Given the description of an element on the screen output the (x, y) to click on. 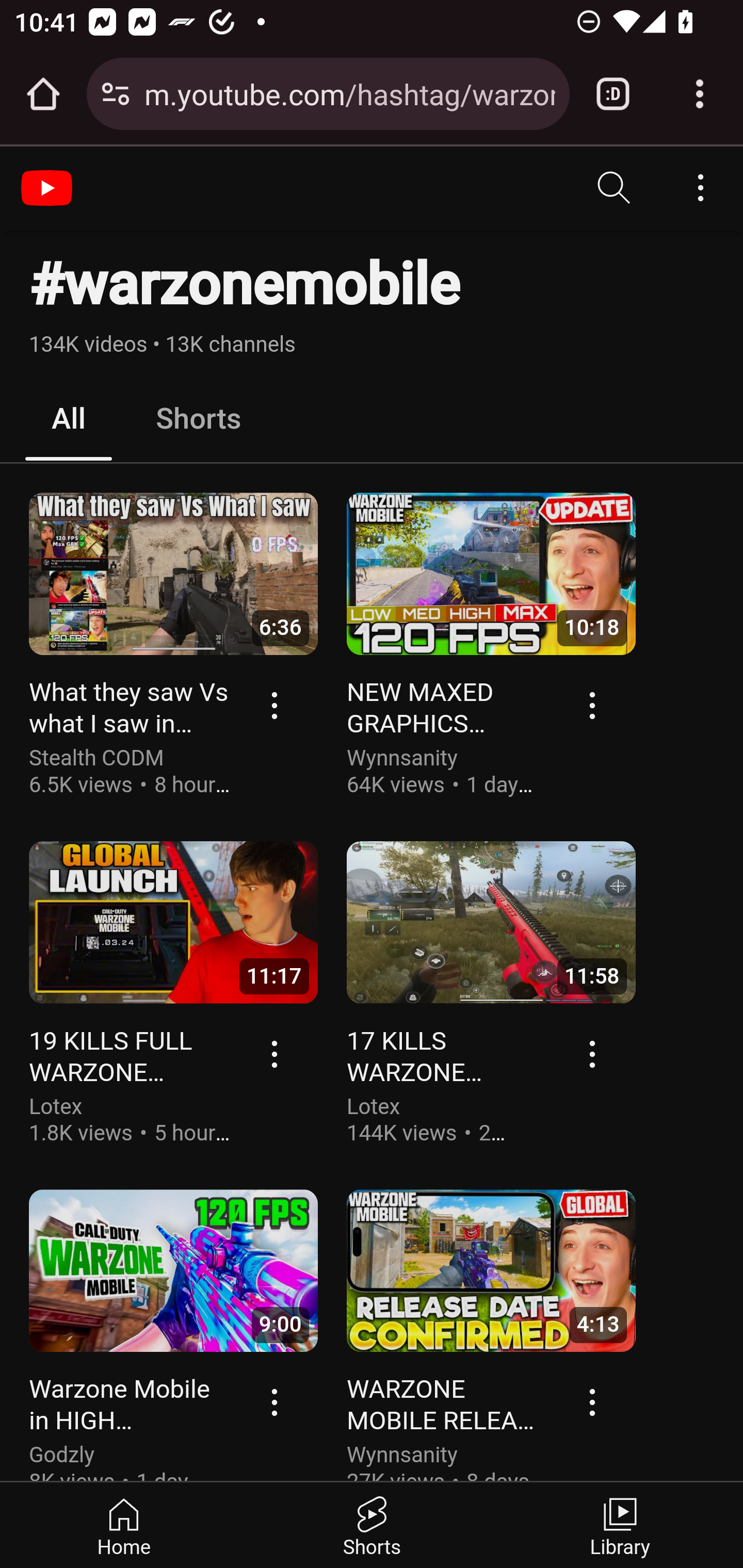
Open the home page (43, 93)
Connection is secure (115, 93)
Switch or close tabs (612, 93)
Customize and control Google Chrome (699, 93)
m.youtube.com/hashtag/warzonemobile (349, 92)
YouTube (48, 188)
Search YouTube (614, 188)
Account (700, 188)
All (69, 419)
Shorts (198, 419)
Action menu (275, 704)
Action menu (593, 704)
Action menu (275, 1052)
Action menu (593, 1052)
Action menu (275, 1401)
Action menu (593, 1401)
Home (124, 1524)
Shorts (371, 1524)
Library (618, 1524)
